Given the description of an element on the screen output the (x, y) to click on. 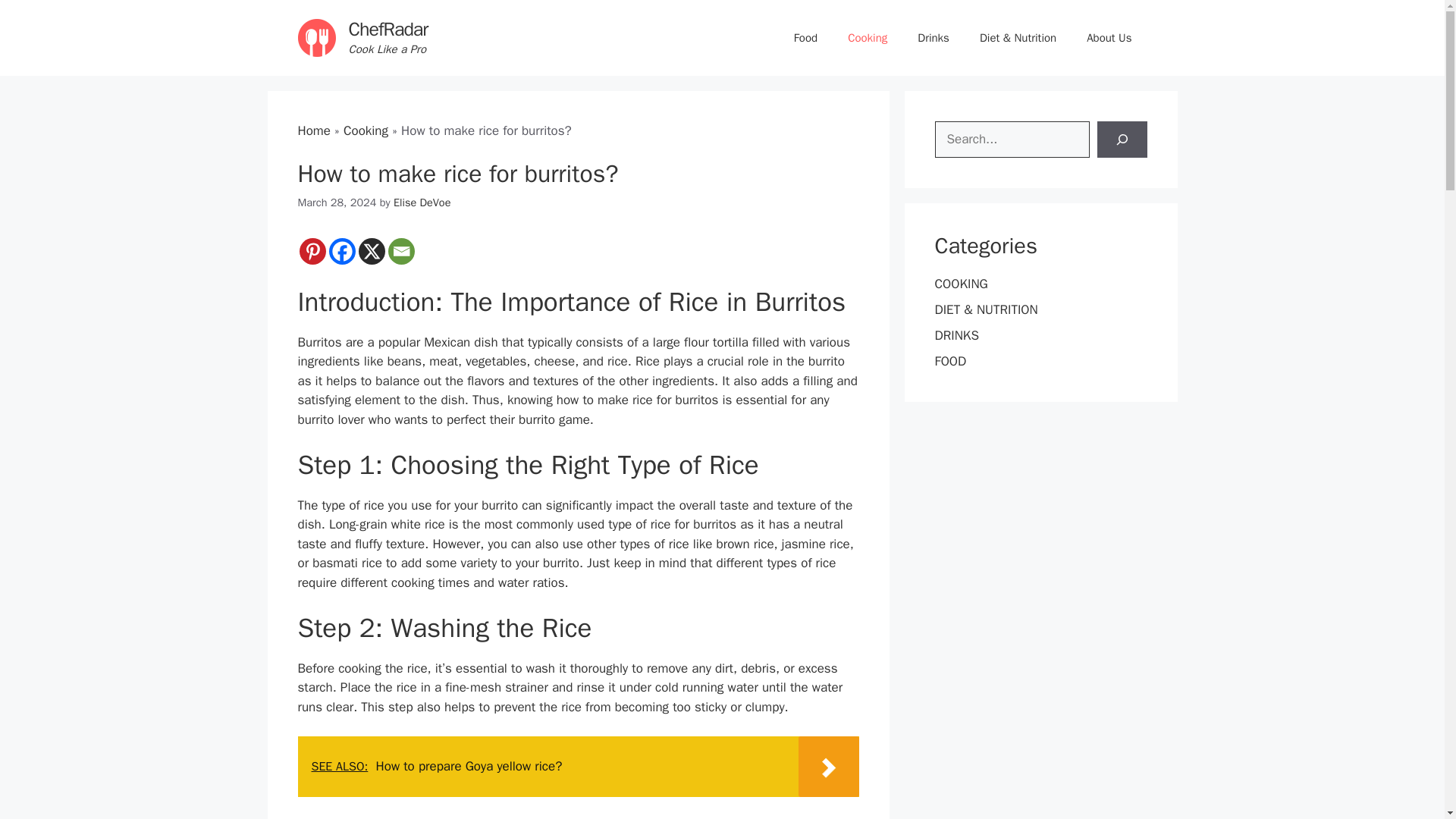
Food (805, 37)
About Us (1109, 37)
Drinks (932, 37)
SEE ALSO:  How to prepare Goya yellow rice? (578, 766)
Pinterest (311, 251)
X (371, 251)
Facebook (342, 251)
Elise DeVoe (422, 202)
COOKING (960, 283)
Cooking (867, 37)
FOOD (950, 360)
Email (401, 251)
DRINKS (956, 335)
Home (313, 130)
Cooking (365, 130)
